Given the description of an element on the screen output the (x, y) to click on. 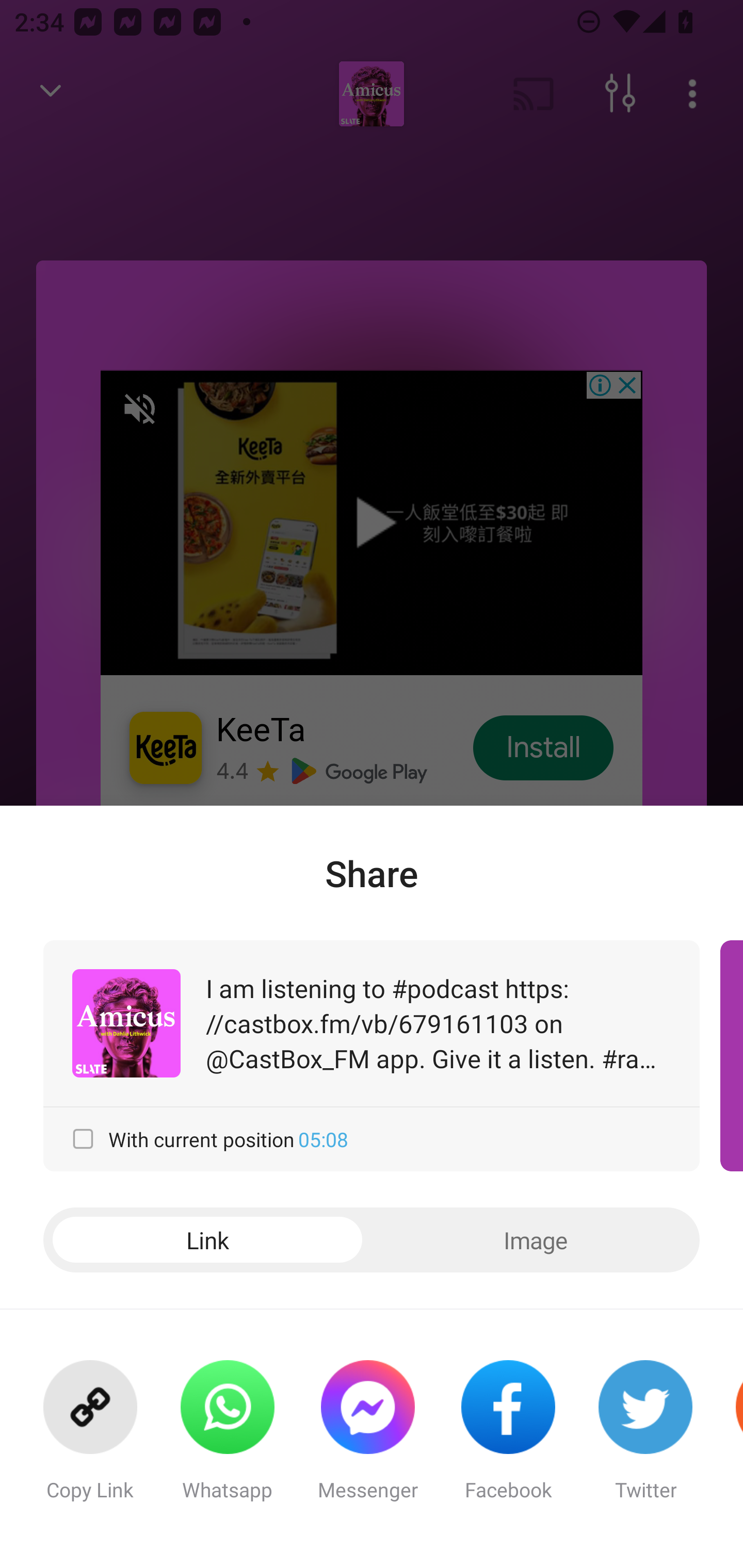
With current position 05:08 (371, 1138)
Link (207, 1240)
Image (535, 1240)
Copy Link (90, 1438)
Whatsapp (227, 1438)
Messenger (367, 1438)
Facebook (508, 1438)
Twitter (645, 1438)
